Given the description of an element on the screen output the (x, y) to click on. 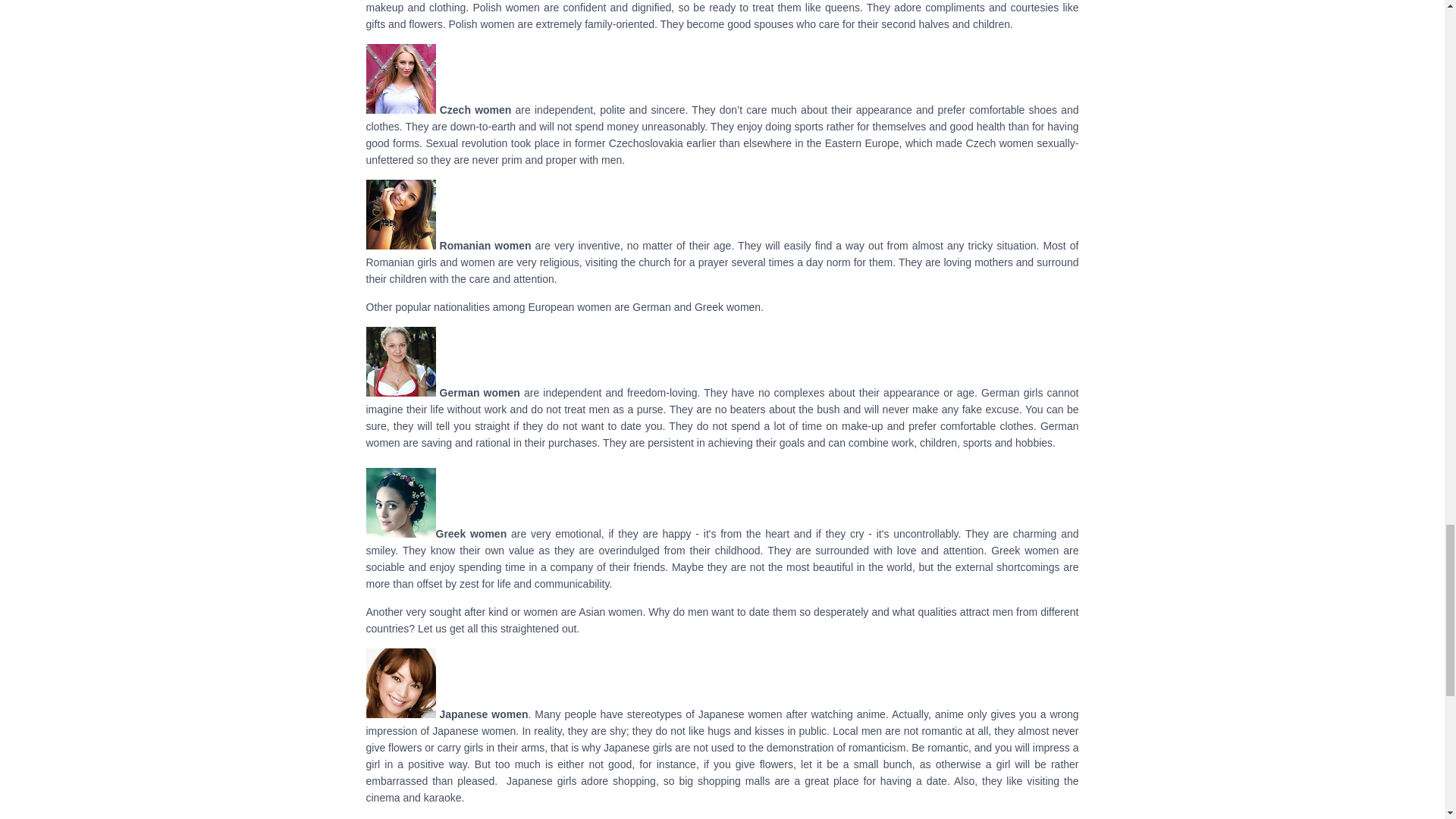
japaneese girls (400, 683)
german girls (400, 361)
czech girl (400, 78)
romanian girls (400, 214)
greek girls (400, 502)
